Given the description of an element on the screen output the (x, y) to click on. 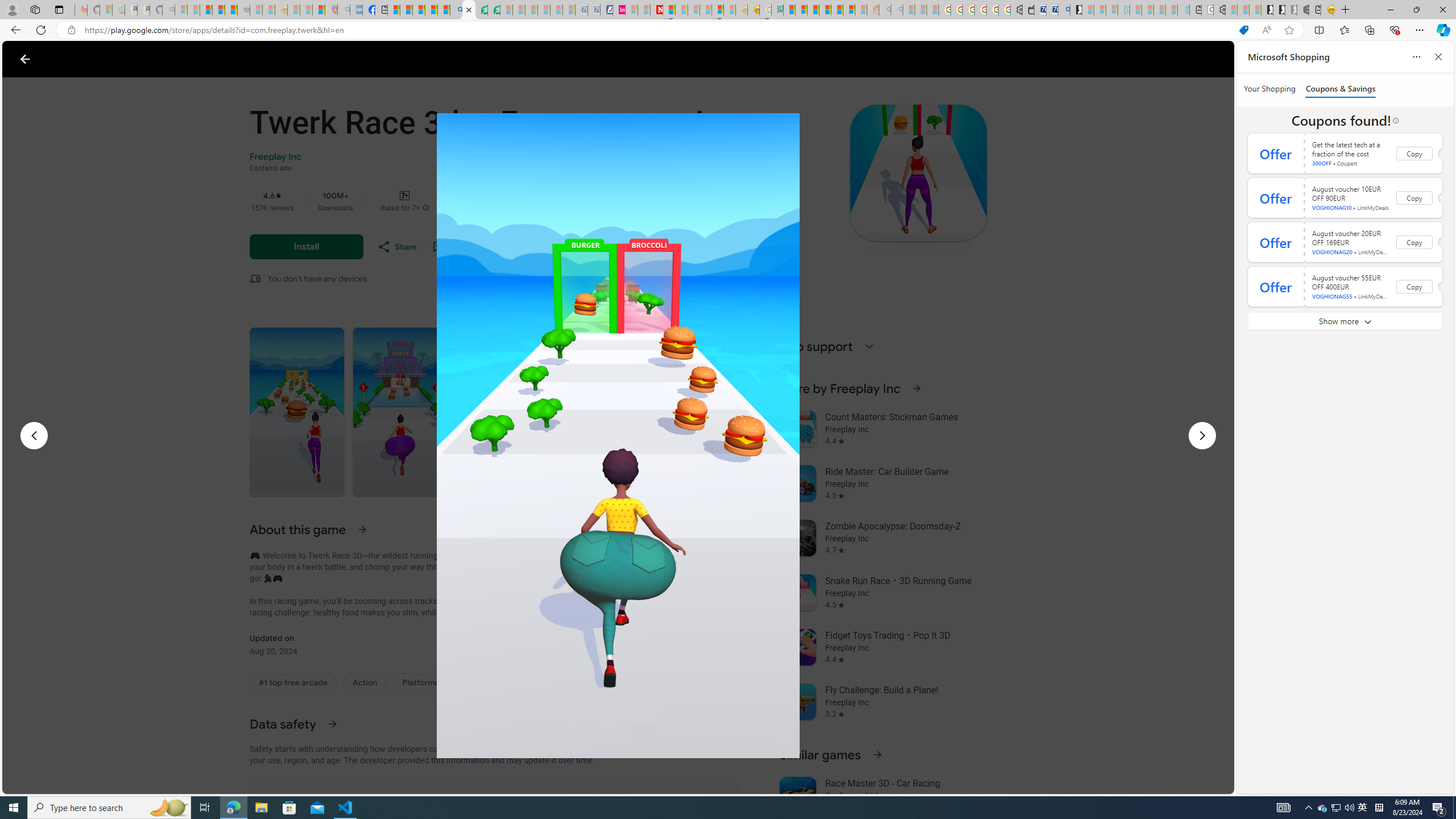
The Weather Channel - MSN (205, 9)
See more information on About this game (362, 528)
See more information on Similar games (877, 754)
See more information on More by Freeplay Inc (916, 388)
Share (396, 246)
Install (306, 246)
Games (142, 58)
